Given the description of an element on the screen output the (x, y) to click on. 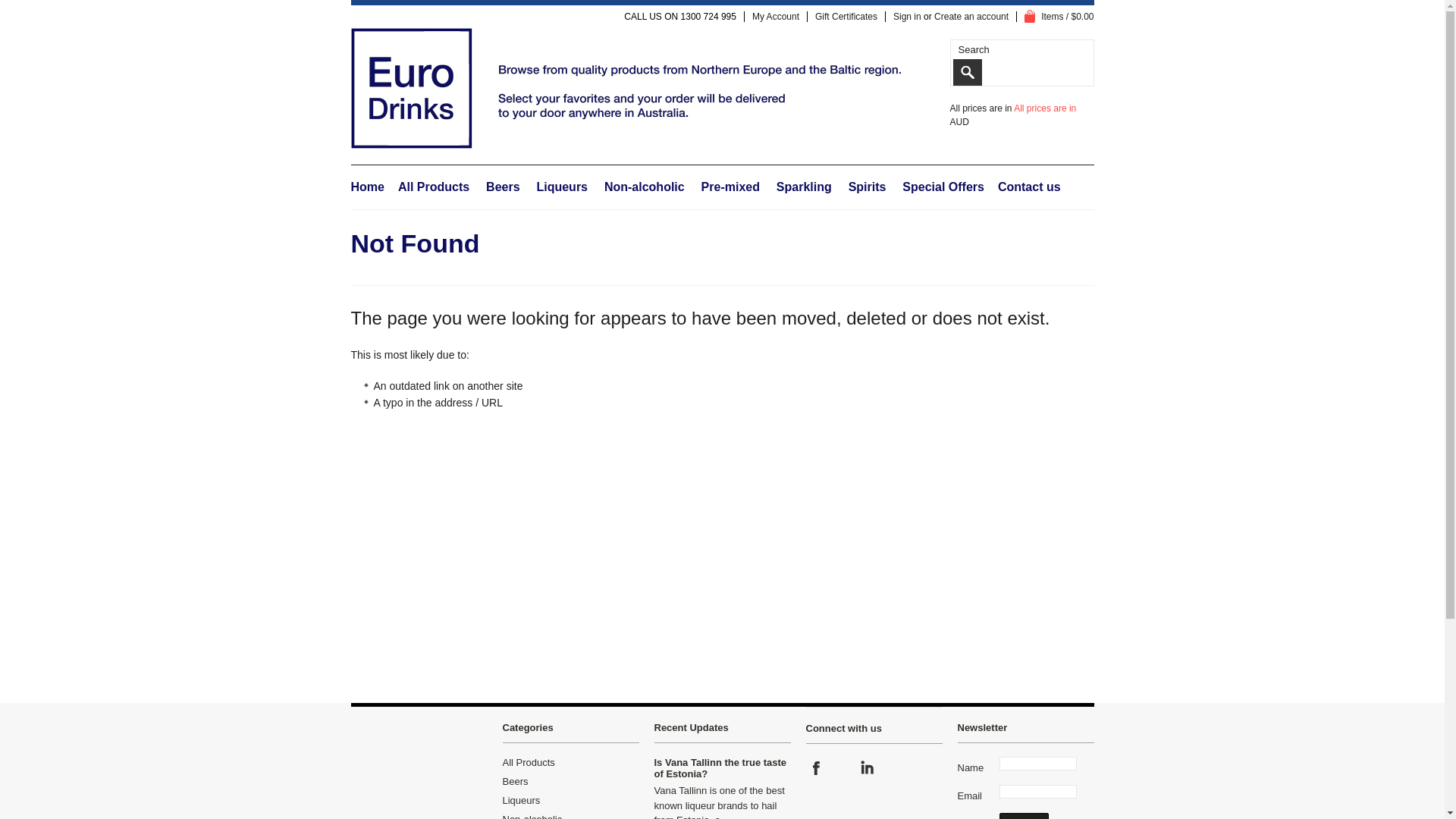
All prices are in AUD Element type: text (1012, 115)
Beers Element type: text (502, 187)
Facebook Element type: text (815, 767)
Special Offers Element type: text (943, 187)
Contact us Element type: text (1028, 187)
Search Element type: hover (966, 72)
Liqueurs Element type: text (520, 800)
Sparkling Element type: text (803, 187)
All Products Element type: text (528, 762)
Spirits Element type: text (867, 187)
Beers Element type: text (514, 781)
View Cart Element type: hover (1029, 16)
Pre-mixed Element type: text (730, 187)
 Items / $0.00 Element type: text (1058, 16)
Instagram Element type: text (841, 767)
LinkedIn Element type: text (865, 767)
Gift Certificates Element type: text (846, 16)
All Products Element type: text (433, 187)
Home Element type: text (366, 187)
Non-alcoholic Element type: text (644, 187)
Is Vana Tallinn the true taste of Estonia? Element type: text (719, 767)
Create an account Element type: text (971, 16)
Sign in Element type: text (907, 16)
Liqueurs Element type: text (561, 187)
My Account Element type: text (775, 16)
